Given the description of an element on the screen output the (x, y) to click on. 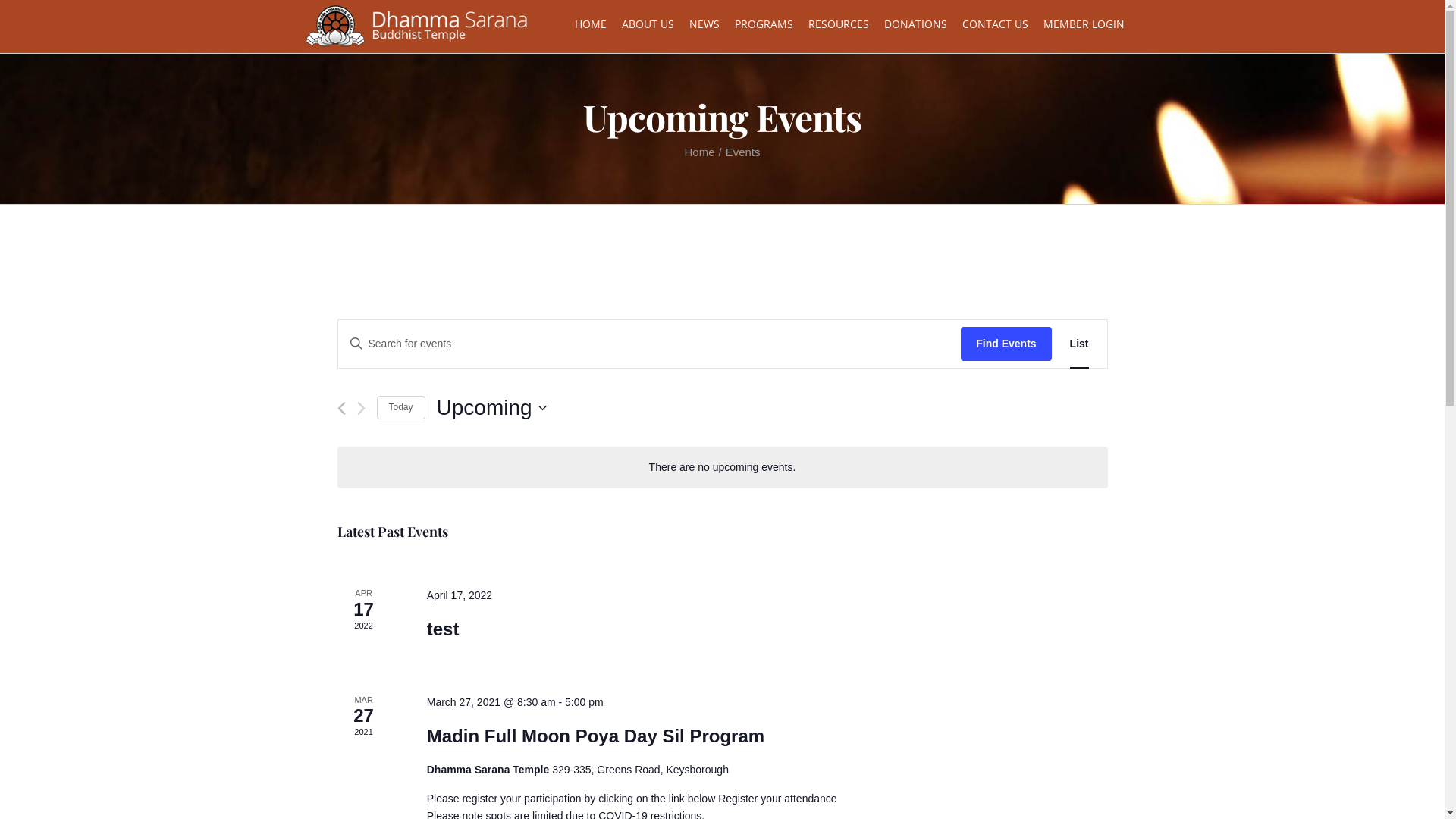
Madin Full Moon Poya Day Sil Program Element type: text (595, 735)
NEWS Element type: text (703, 22)
Upcoming Element type: text (491, 407)
PROGRAMS Element type: text (763, 22)
Today Element type: text (400, 407)
DONATIONS Element type: text (915, 22)
Next Events Element type: hover (360, 408)
Find Events Element type: text (1005, 343)
MEMBER LOGIN Element type: text (1083, 22)
test Element type: text (442, 629)
Home Element type: text (699, 151)
List Element type: text (1079, 343)
HOME Element type: text (590, 22)
CONTACT US Element type: text (994, 22)
RESOURCES Element type: text (838, 22)
Previous Events Element type: hover (340, 408)
ABOUT US Element type: text (647, 22)
